Given the description of an element on the screen output the (x, y) to click on. 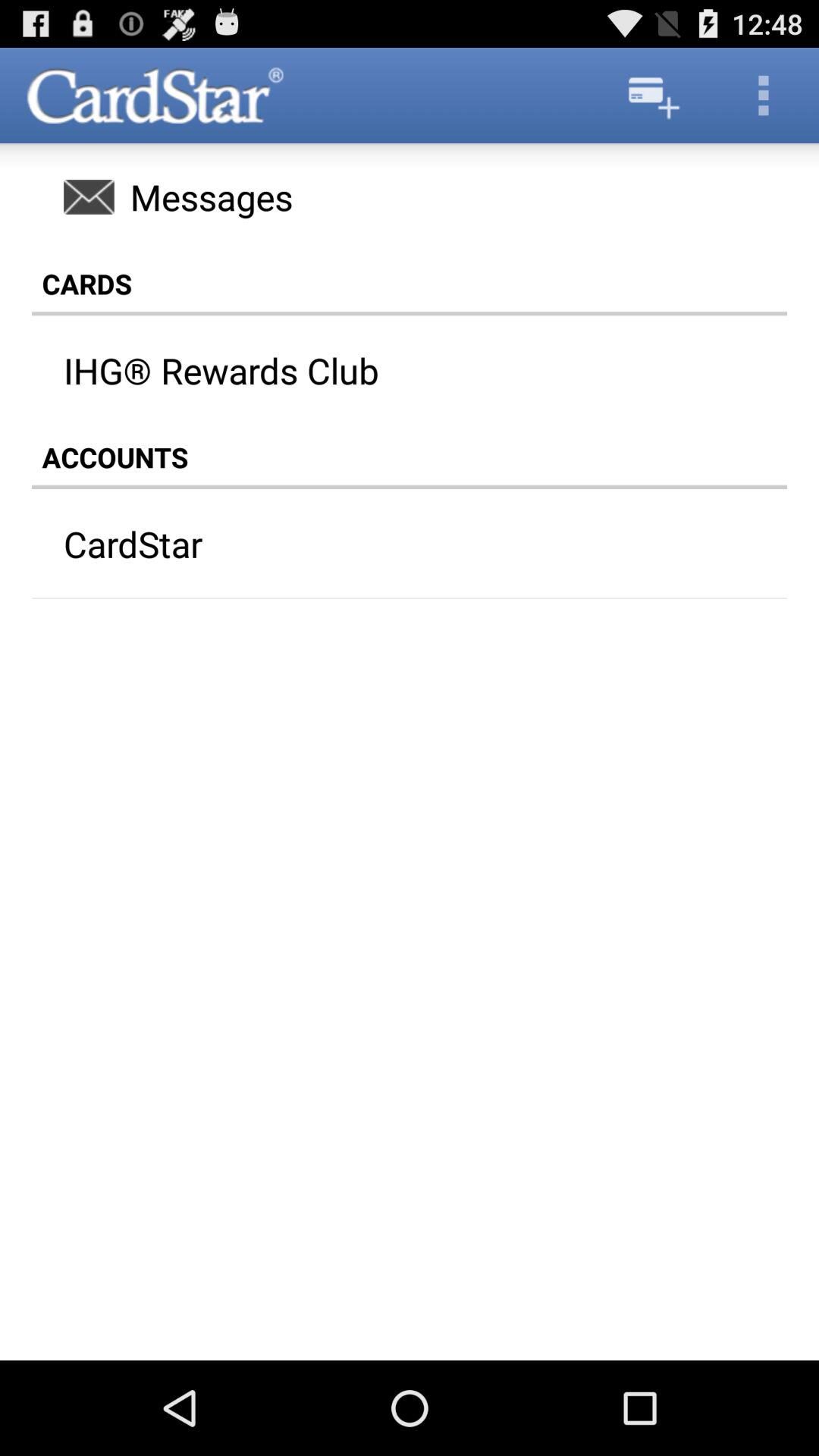
turn off the app above cardstar icon (409, 457)
